Given the description of an element on the screen output the (x, y) to click on. 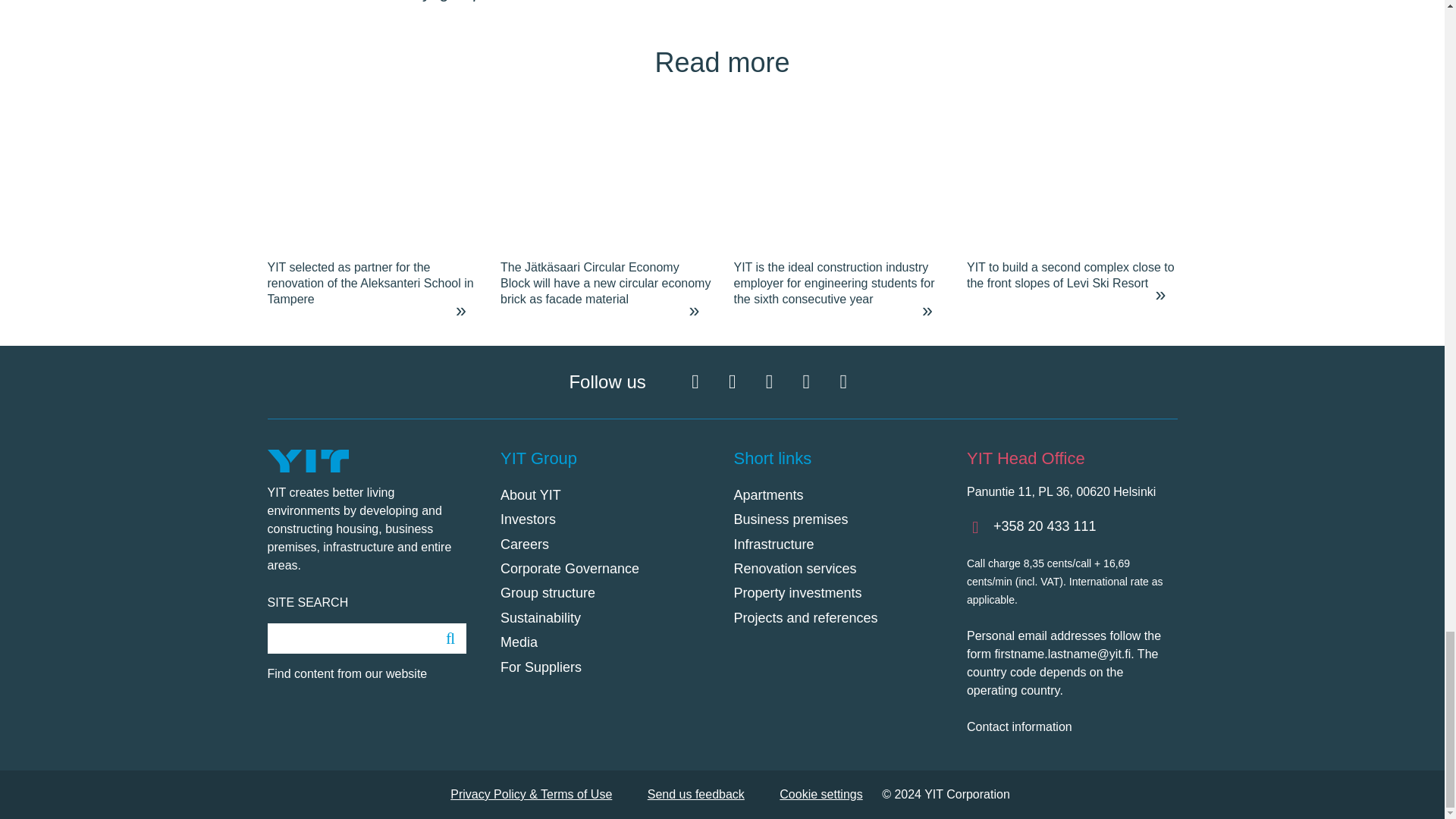
Facebook YIT Suomi (694, 381)
YouTube YIT Corporation (805, 381)
LinkedIn YIT Corporation (769, 381)
YIT Corporation contact information (1071, 727)
